Given the description of an element on the screen output the (x, y) to click on. 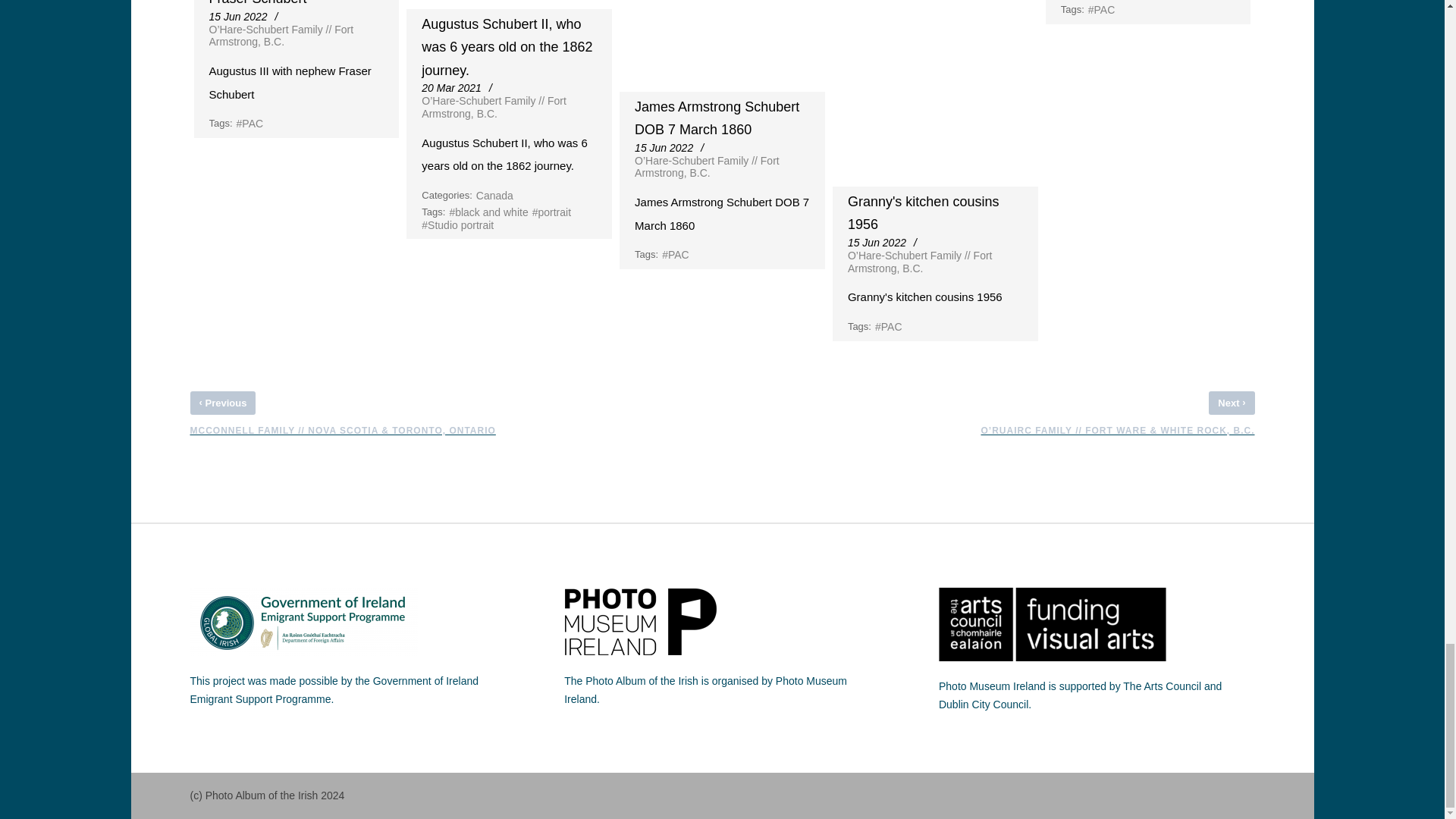
Canada (494, 195)
